Given the description of an element on the screen output the (x, y) to click on. 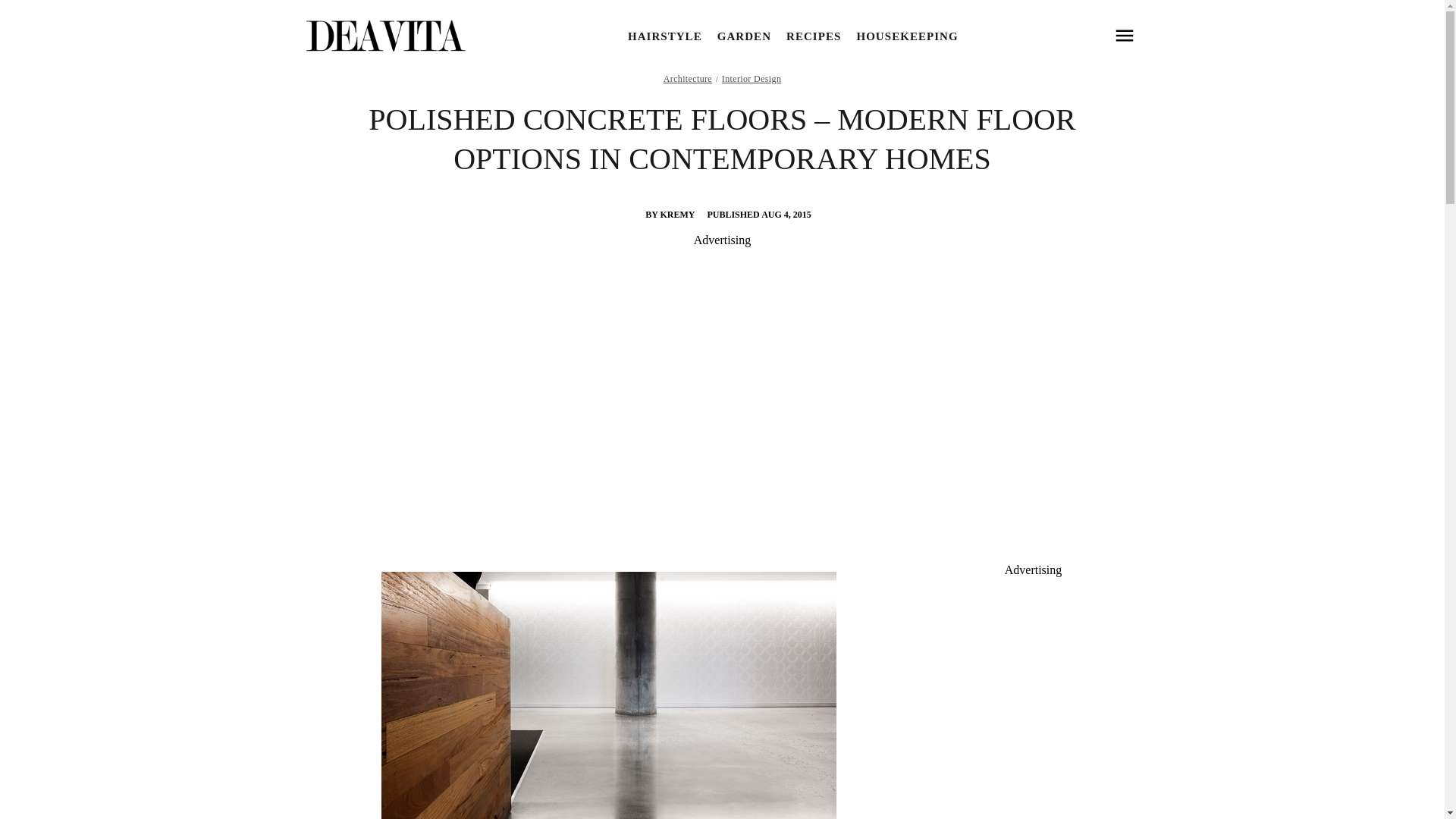
open menu (1124, 36)
HAIRSTYLE (664, 36)
GARDEN (744, 36)
RECIPES (813, 36)
Deavita (383, 36)
HOUSEKEEPING (907, 36)
